Given the description of an element on the screen output the (x, y) to click on. 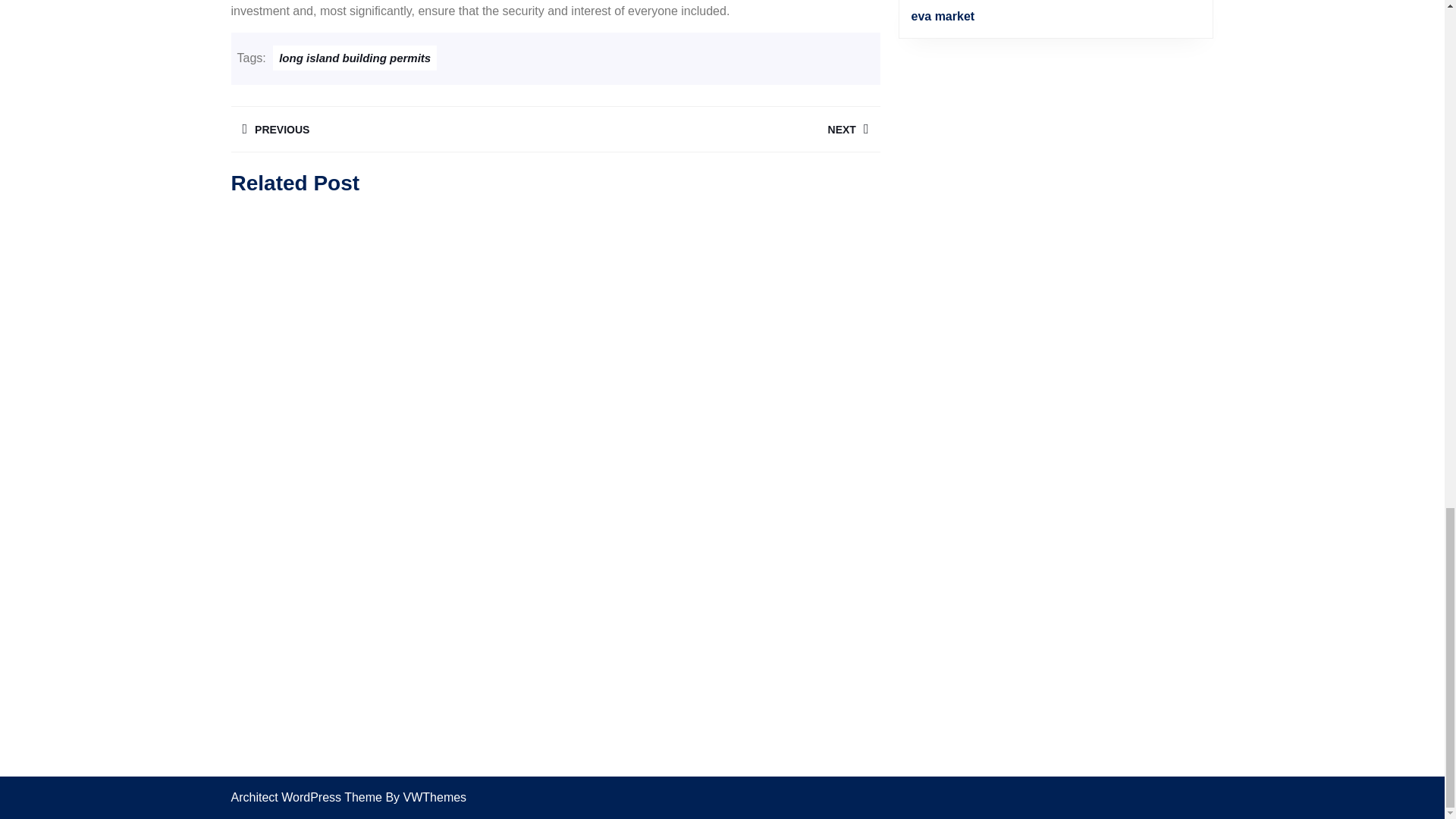
long island building permits (354, 57)
